Given the description of an element on the screen output the (x, y) to click on. 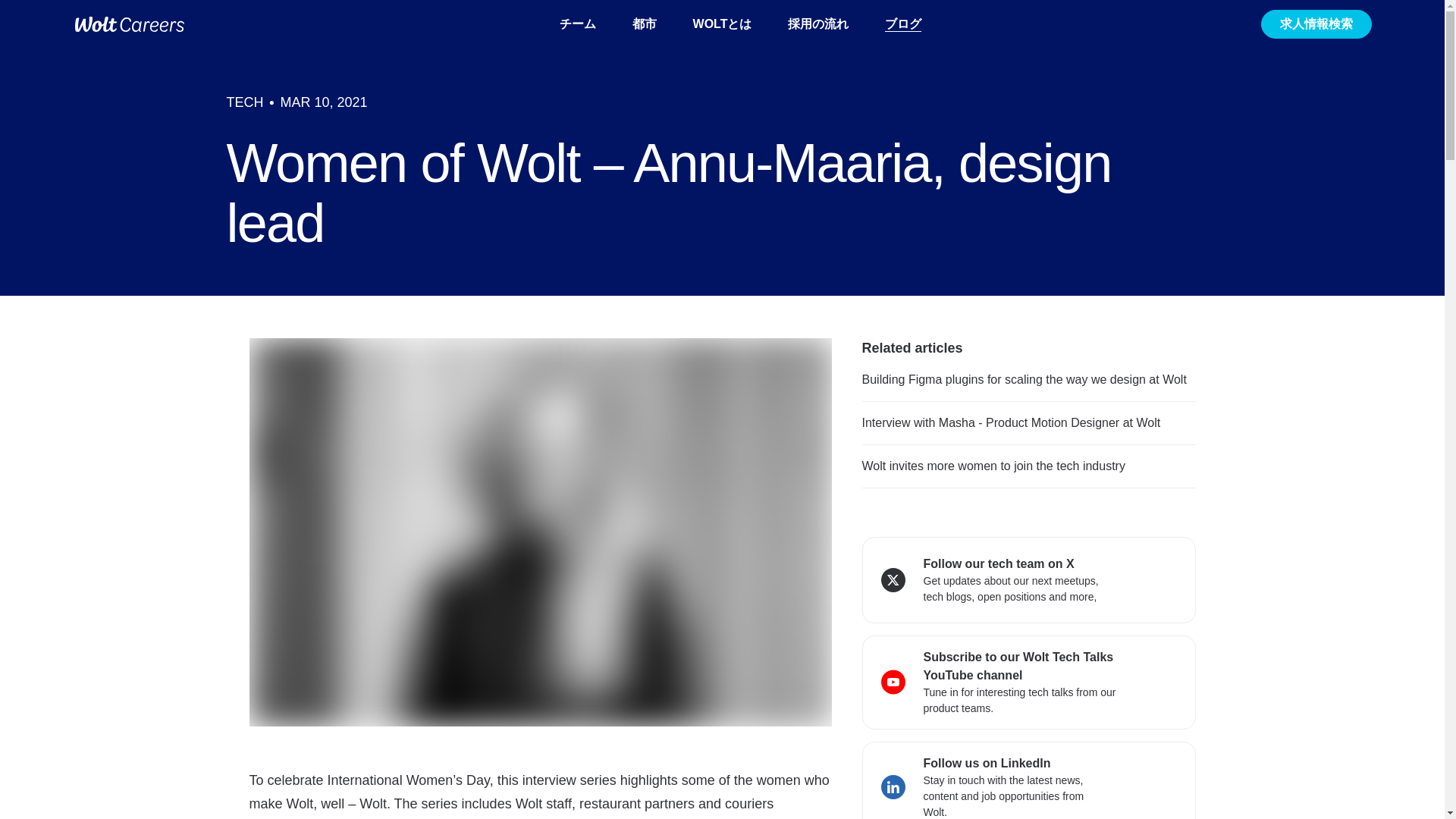
Building Figma plugins for scaling the way we design at Wolt (1023, 379)
Wolt invites more women to join the tech industry (992, 465)
Interview with Masha - Product Motion Designer at Wolt (1010, 422)
